Given the description of an element on the screen output the (x, y) to click on. 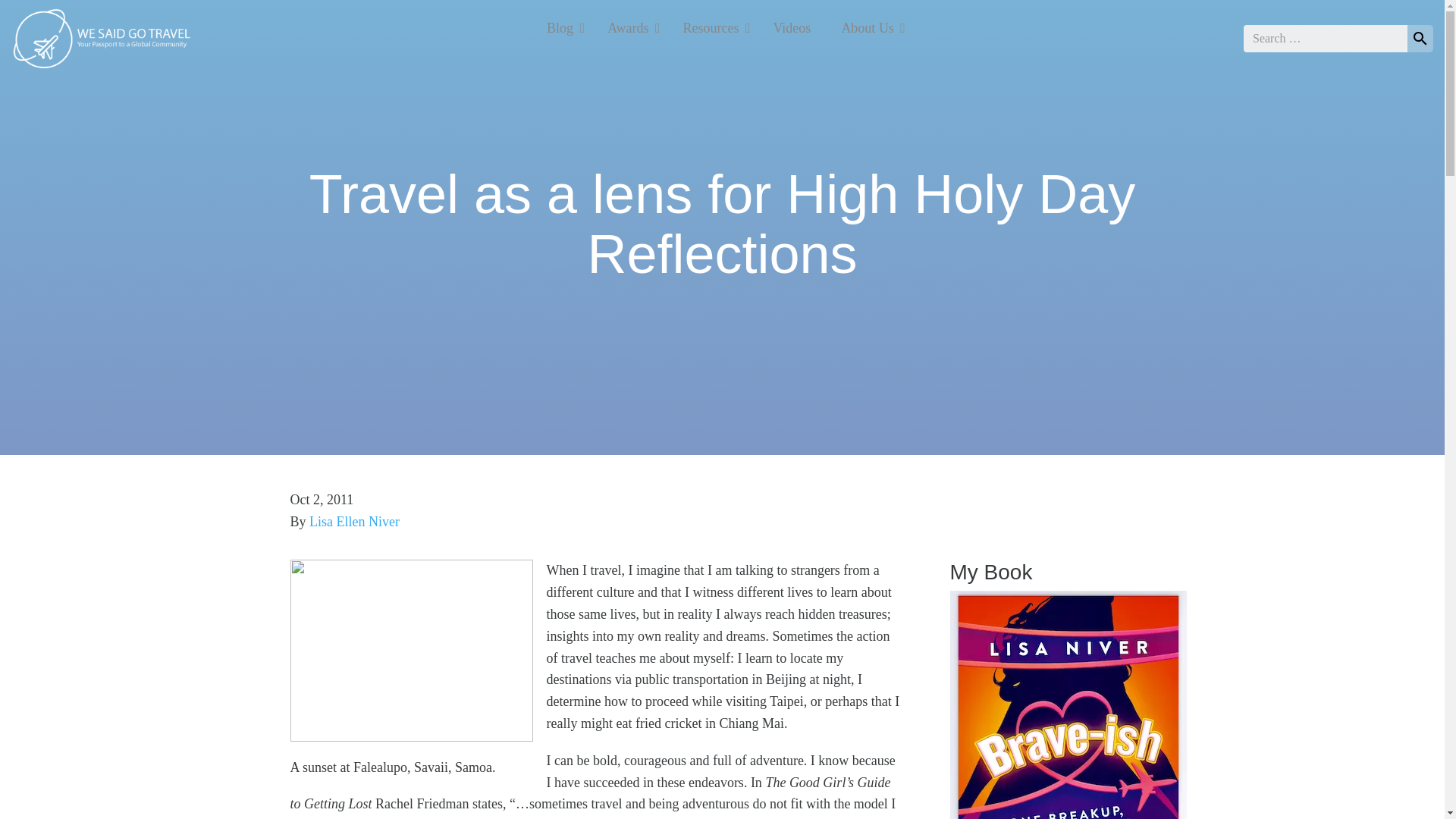
Awards (629, 28)
Blog (561, 28)
Search for: (721, 28)
Resources (1325, 38)
